Given the description of an element on the screen output the (x, y) to click on. 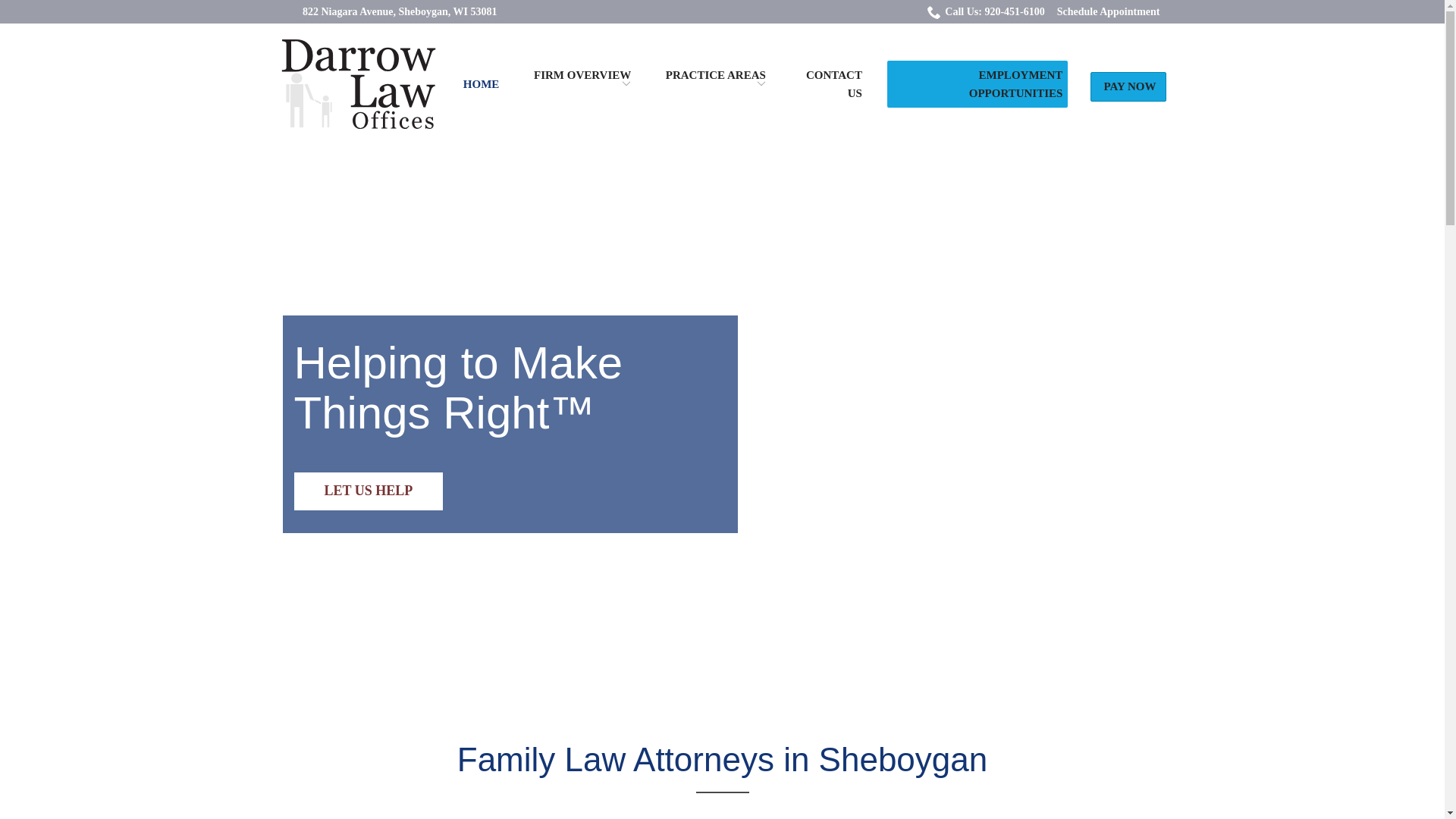
Call Us: 920-451-6100 (985, 11)
PAY NOW (1129, 86)
CONTACT US (833, 83)
HOME (481, 83)
FIRM OVERVIEW (582, 83)
EMPLOYMENT OPPORTUNITIES (1015, 83)
Schedule Appointment (1108, 11)
822 Niagara Avenue, Sheboygan, WI 53081 (399, 11)
PRACTICE AREAS (715, 83)
